Given the description of an element on the screen output the (x, y) to click on. 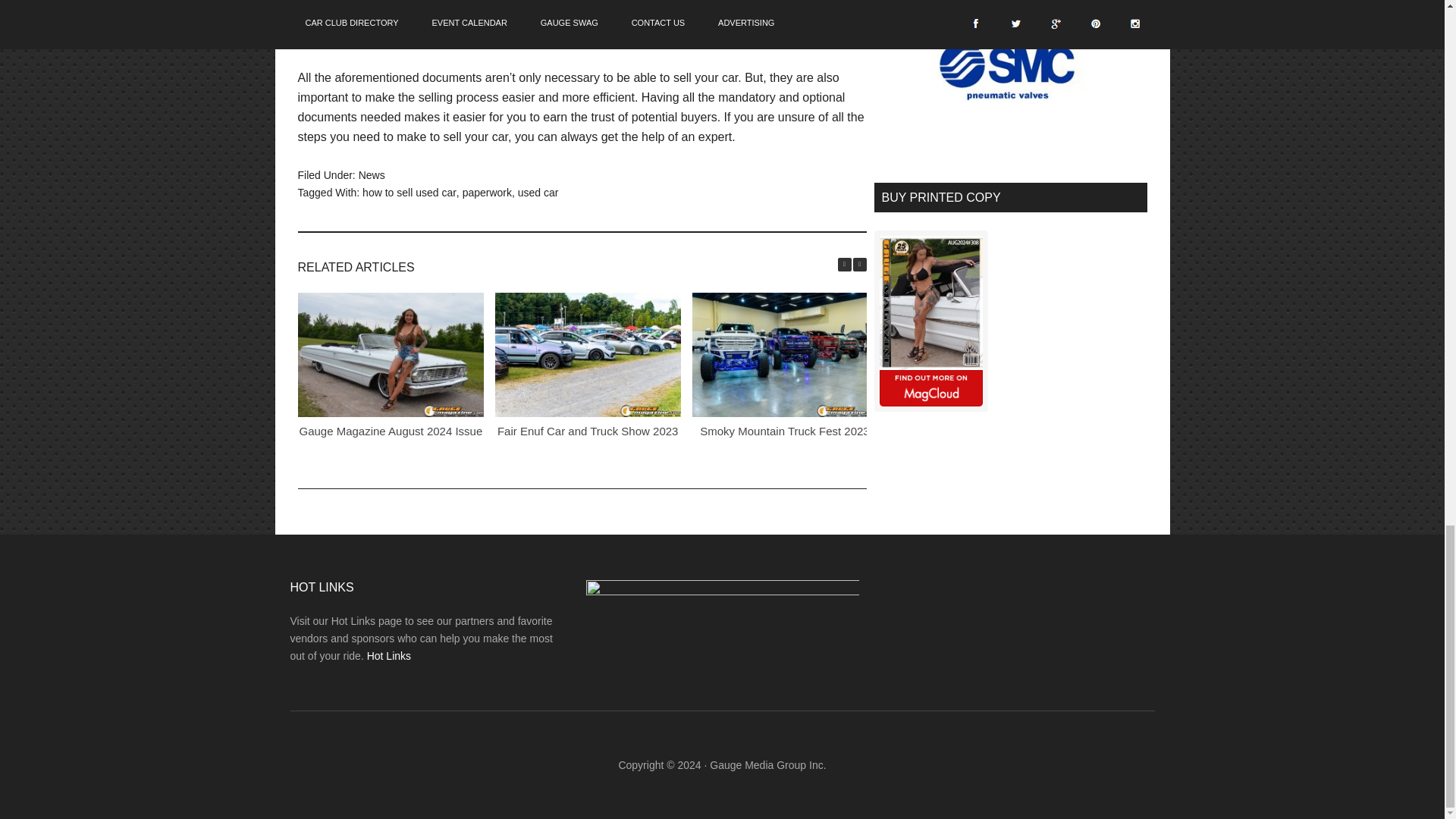
Gauge Magazine August 2024 Issue (389, 431)
News (371, 174)
how to sell used car (409, 191)
Next (858, 264)
Previous (843, 264)
paperwork (487, 191)
used car (538, 191)
